Given the description of an element on the screen output the (x, y) to click on. 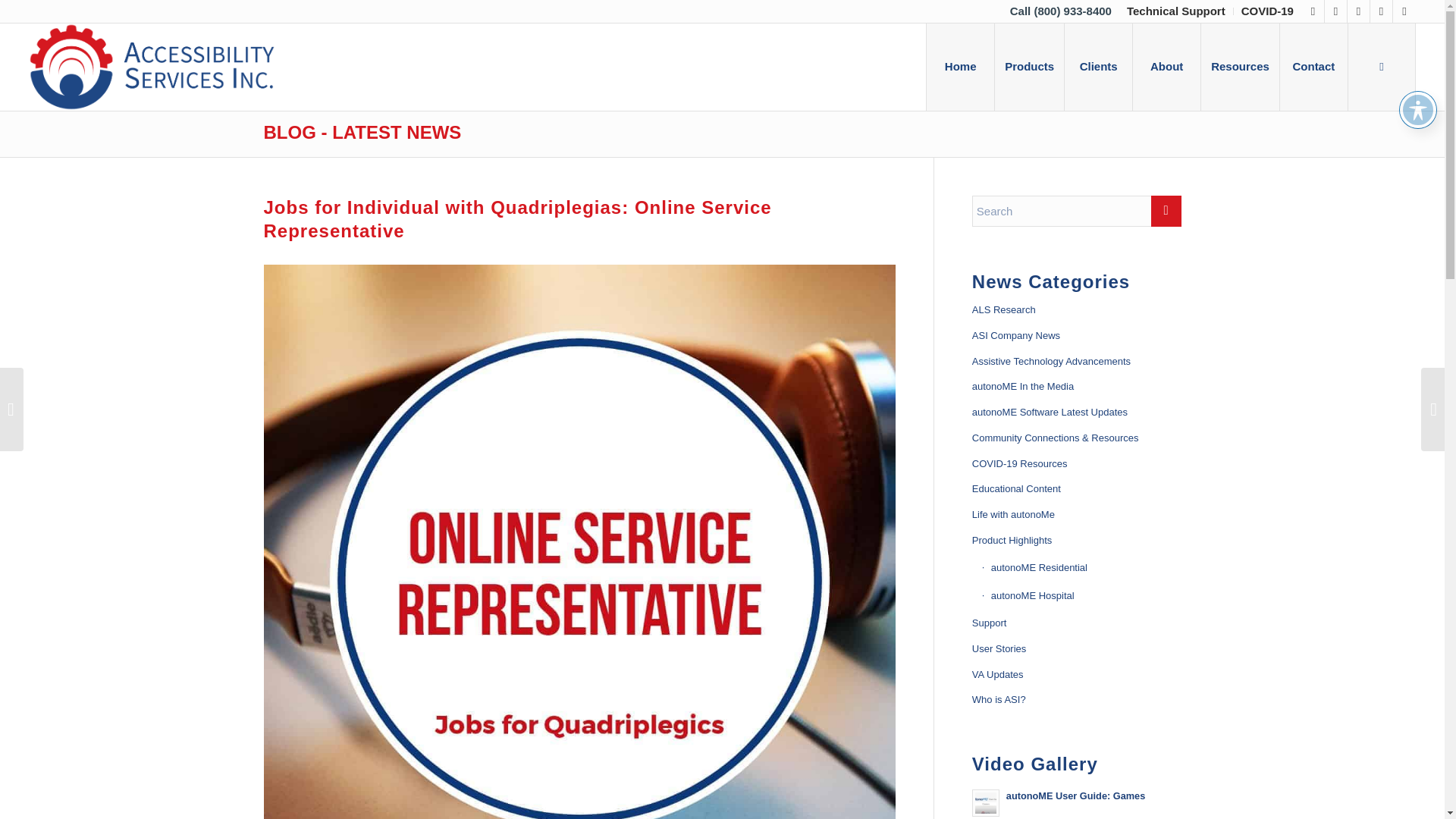
X (1312, 11)
COVID-19 (1267, 11)
LinkedIn (1359, 11)
Permanent Link: Blog - Latest News (362, 132)
Youtube (1380, 11)
ASIProposedORIGINALColor-01 (152, 66)
Mail (1404, 11)
Technical Support (1175, 11)
Facebook (1335, 11)
Resources (1239, 66)
